Given the description of an element on the screen output the (x, y) to click on. 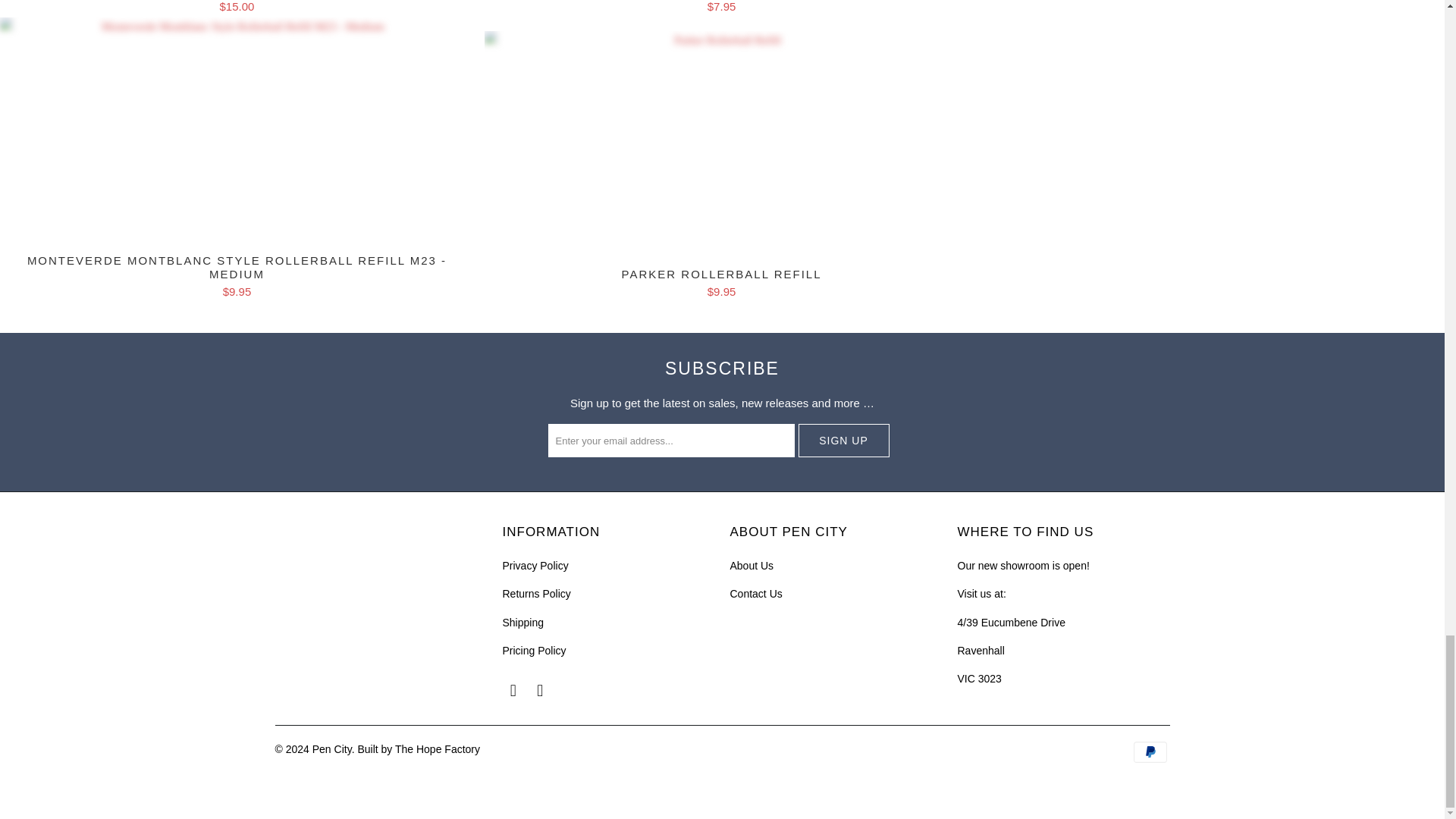
Sign Up (842, 440)
Pen City on Instagram (540, 690)
Pen City on Facebook (513, 690)
PayPal (1150, 752)
